Given the description of an element on the screen output the (x, y) to click on. 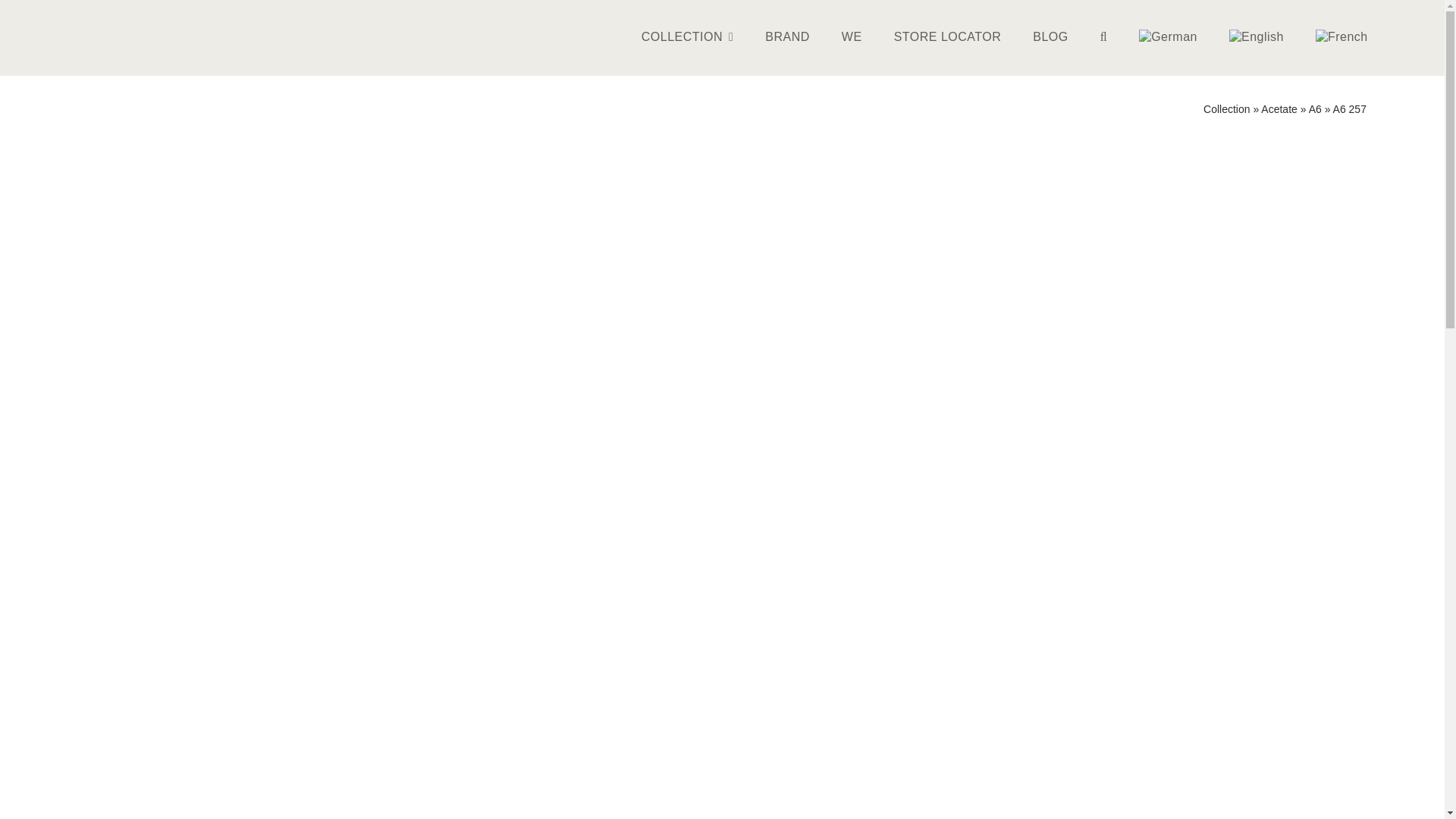
STORE LOCATOR (947, 38)
BRAND (786, 38)
COLLECTION (687, 38)
BLOG (1049, 38)
WE (851, 38)
SEARCH (1104, 38)
